Given the description of an element on the screen output the (x, y) to click on. 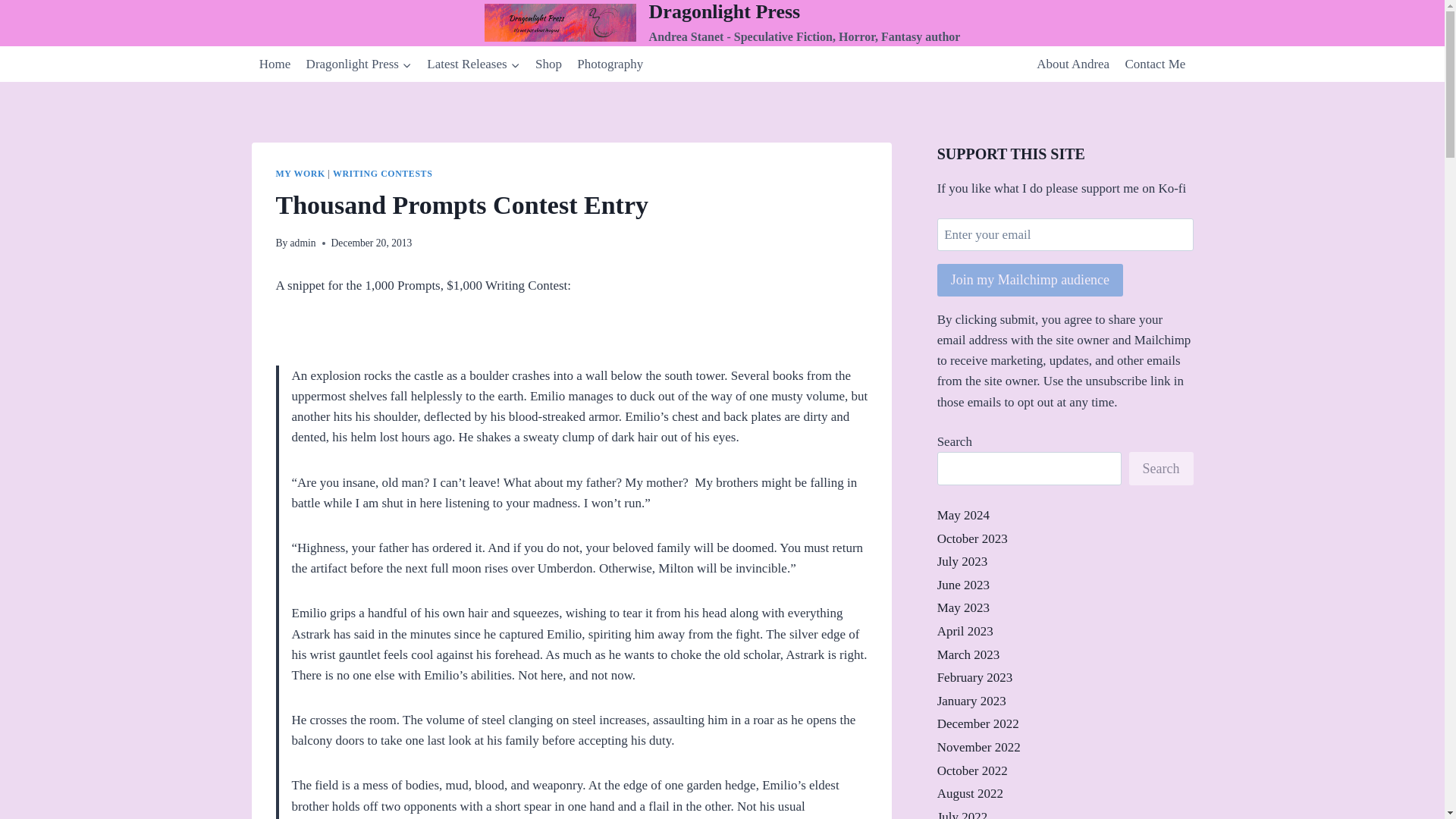
Photography (609, 63)
Enter your email (1065, 234)
MY WORK (300, 173)
Dragonlight Press (358, 63)
admin (302, 242)
Contact Me (1154, 63)
About Andrea (1072, 63)
WRITING CONTESTS (382, 173)
Home (274, 63)
